Given the description of an element on the screen output the (x, y) to click on. 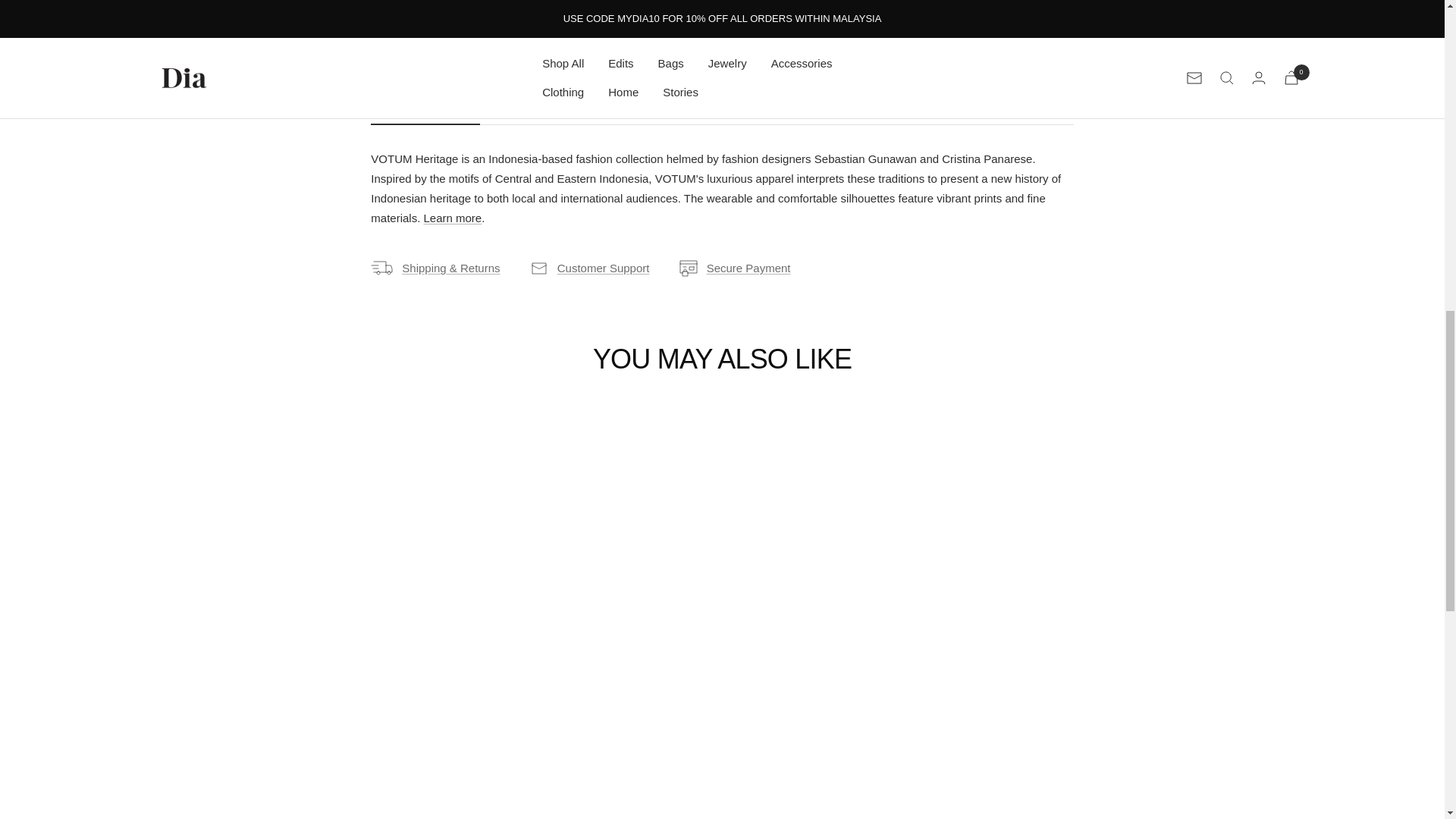
Zoom (686, 13)
Brand Profile: VOTUM Heritage (452, 217)
